Given the description of an element on the screen output the (x, y) to click on. 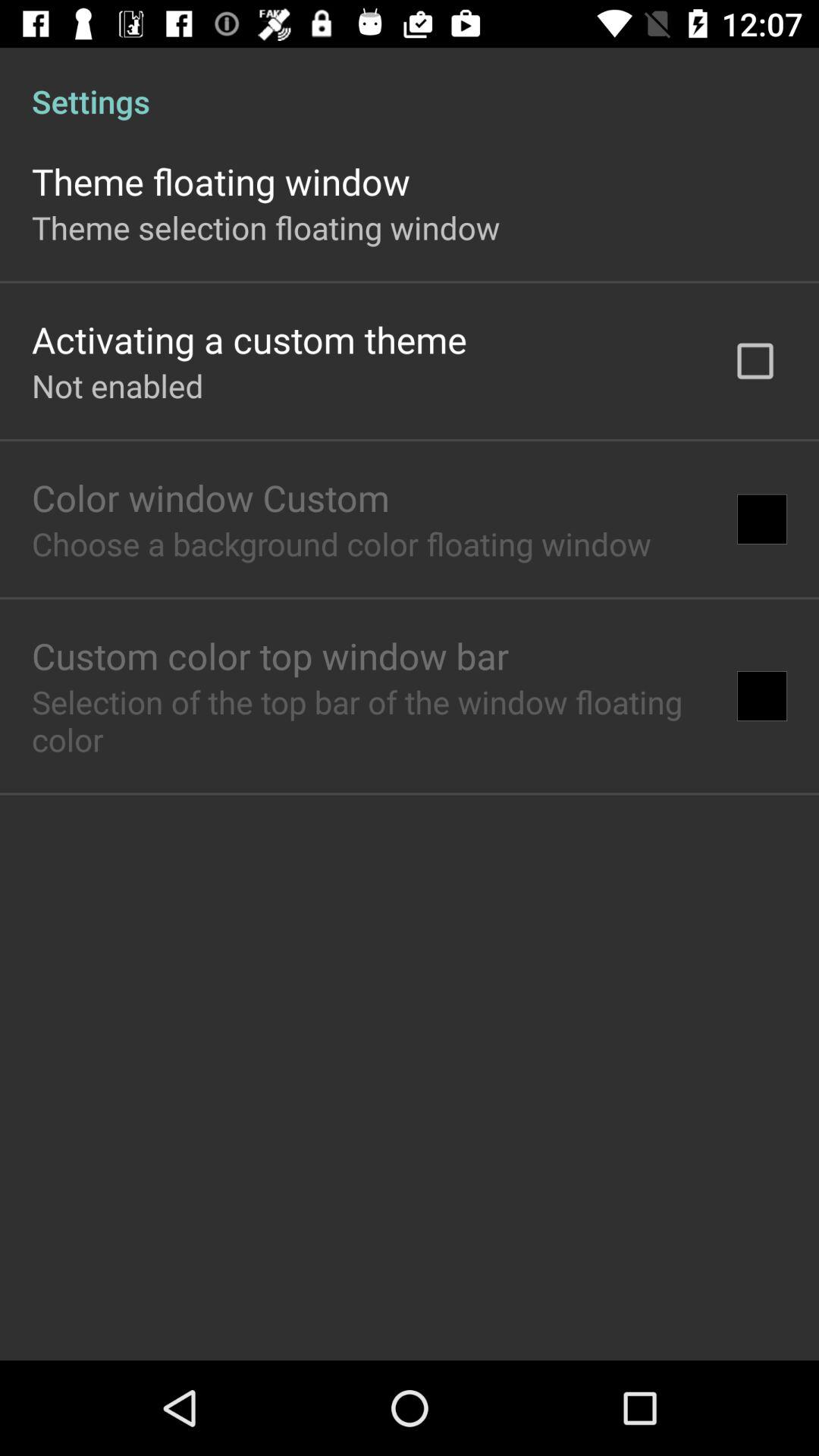
turn on app below settings app (755, 361)
